Given the description of an element on the screen output the (x, y) to click on. 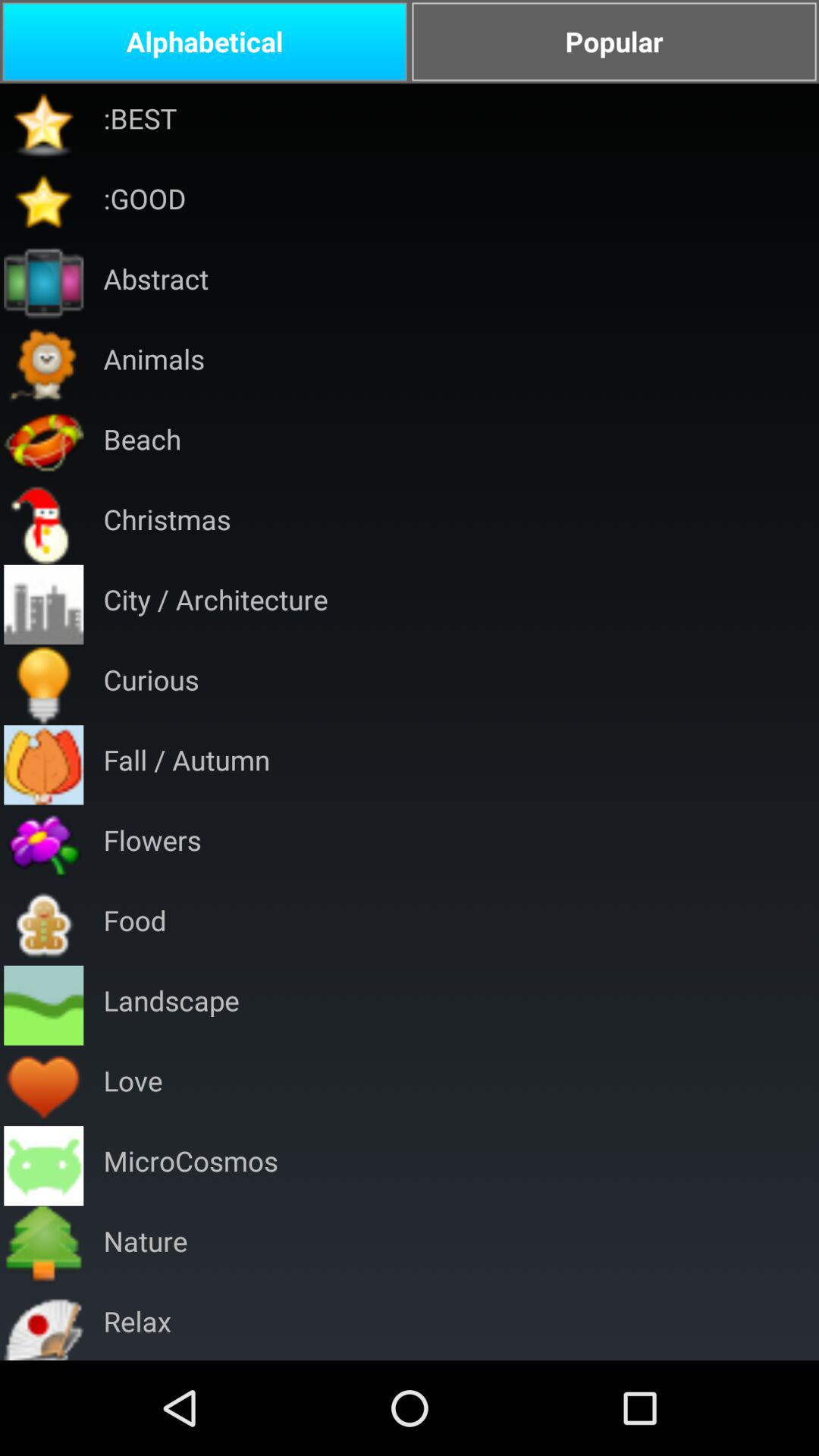
tap beach icon (142, 444)
